Given the description of an element on the screen output the (x, y) to click on. 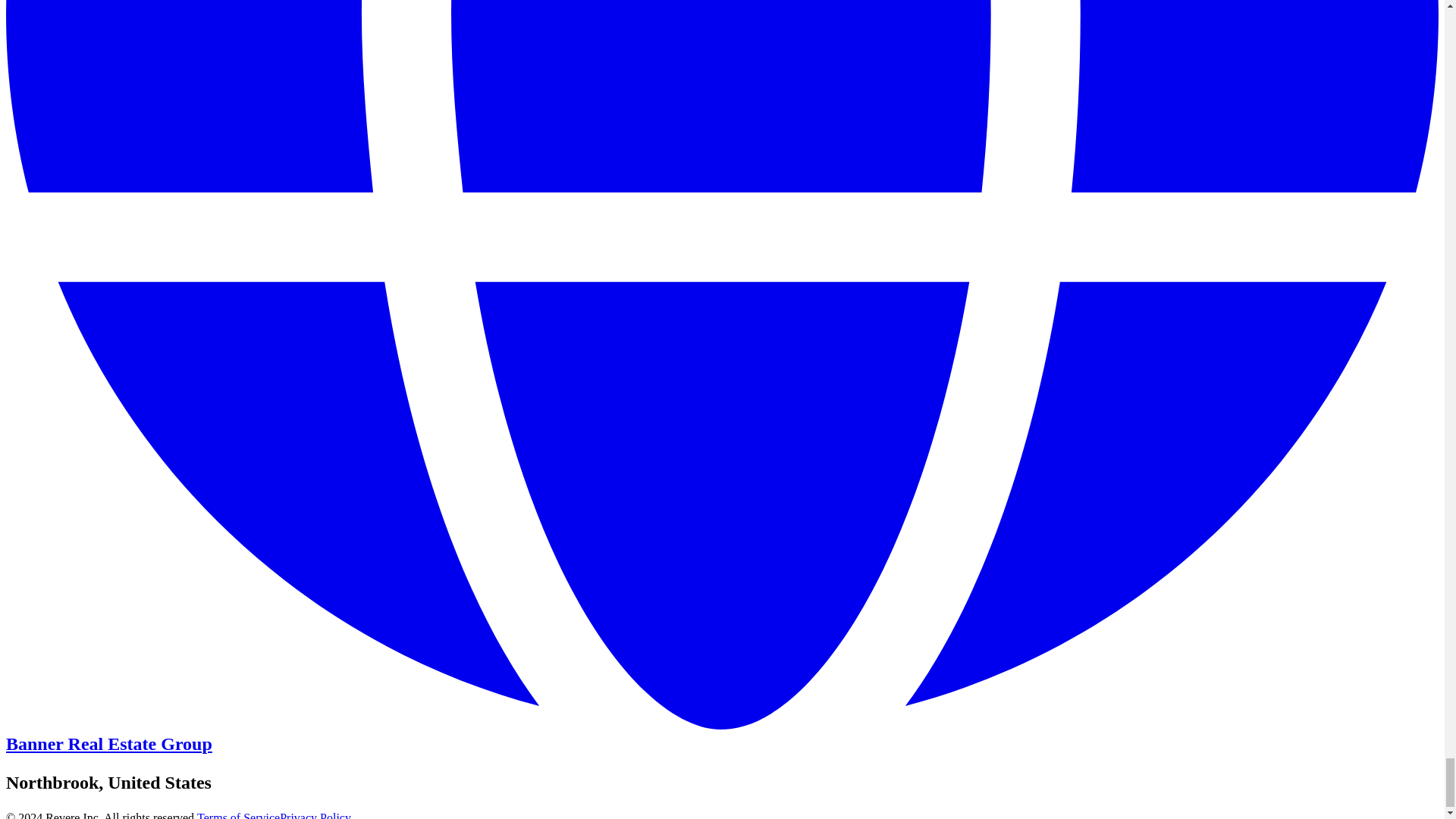
Banner Real Estate Group (108, 743)
